Given the description of an element on the screen output the (x, y) to click on. 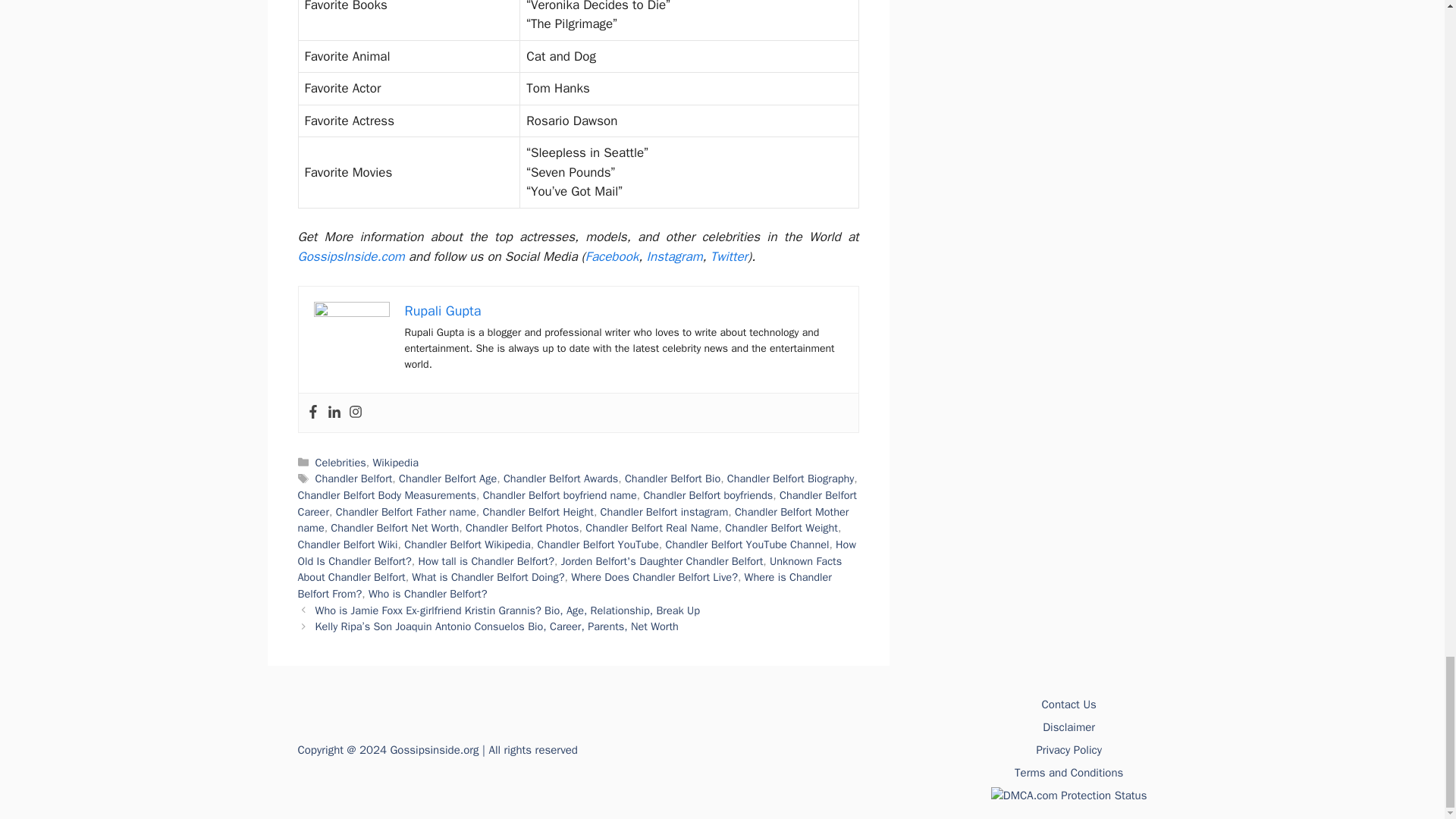
Chandler Belfort instagram (664, 511)
Instagram (674, 256)
Celebrities (340, 462)
DMCA.com Protection Status (1069, 795)
Facebook (312, 412)
Chandler Belfort Mother name (572, 520)
Chandler Belfort boyfriends (708, 495)
Rupali Gupta (442, 310)
Instagram (355, 412)
Wikipedia (395, 462)
Chandler Belfort Height (536, 511)
Chandler Belfort Awards (560, 478)
GossipsInside.com (350, 256)
Facebook (612, 256)
Chandler Belfort Father name (406, 511)
